Given the description of an element on the screen output the (x, y) to click on. 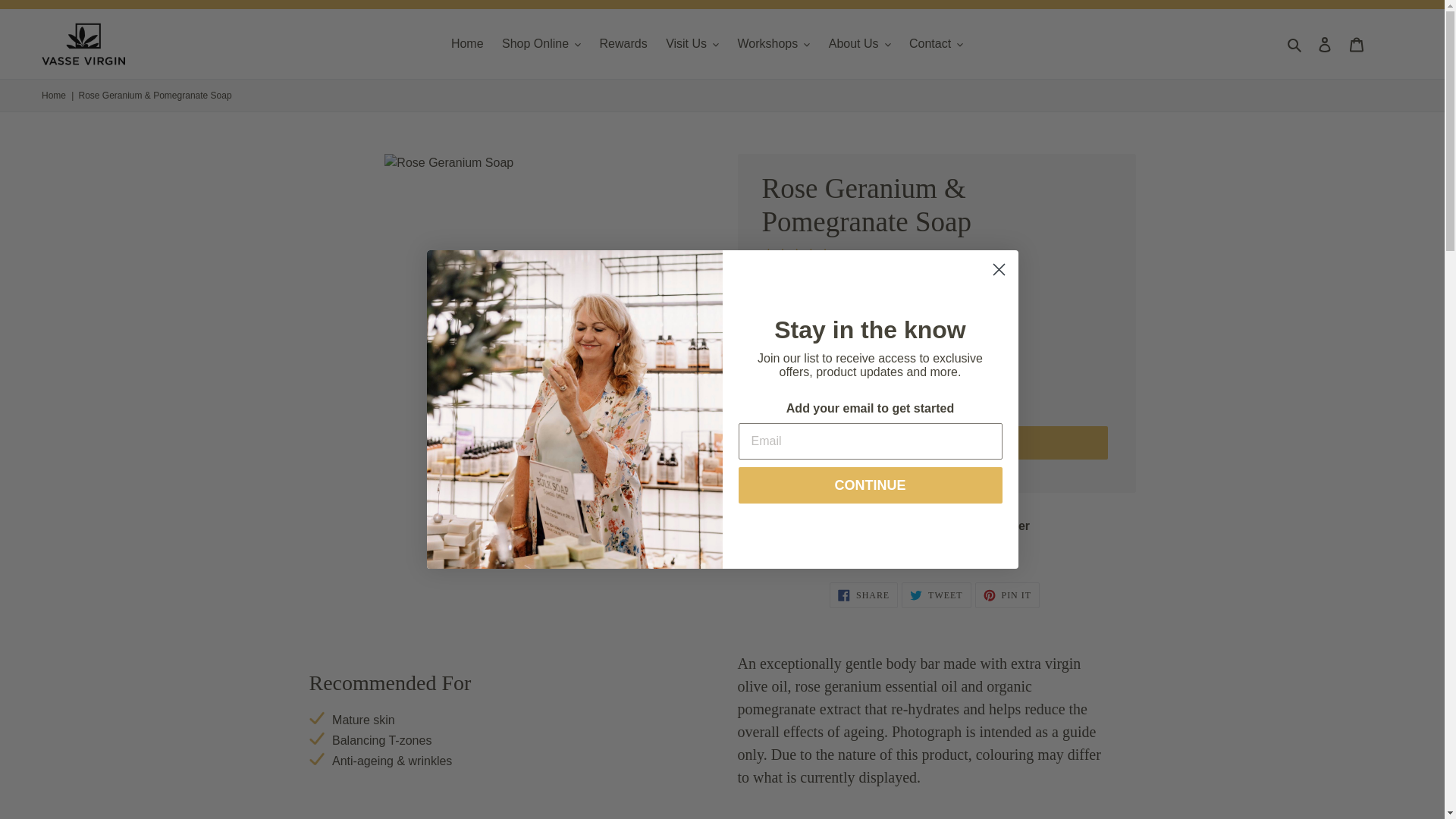
Home (468, 43)
1 (799, 401)
Shop Online (541, 43)
